Given the description of an element on the screen output the (x, y) to click on. 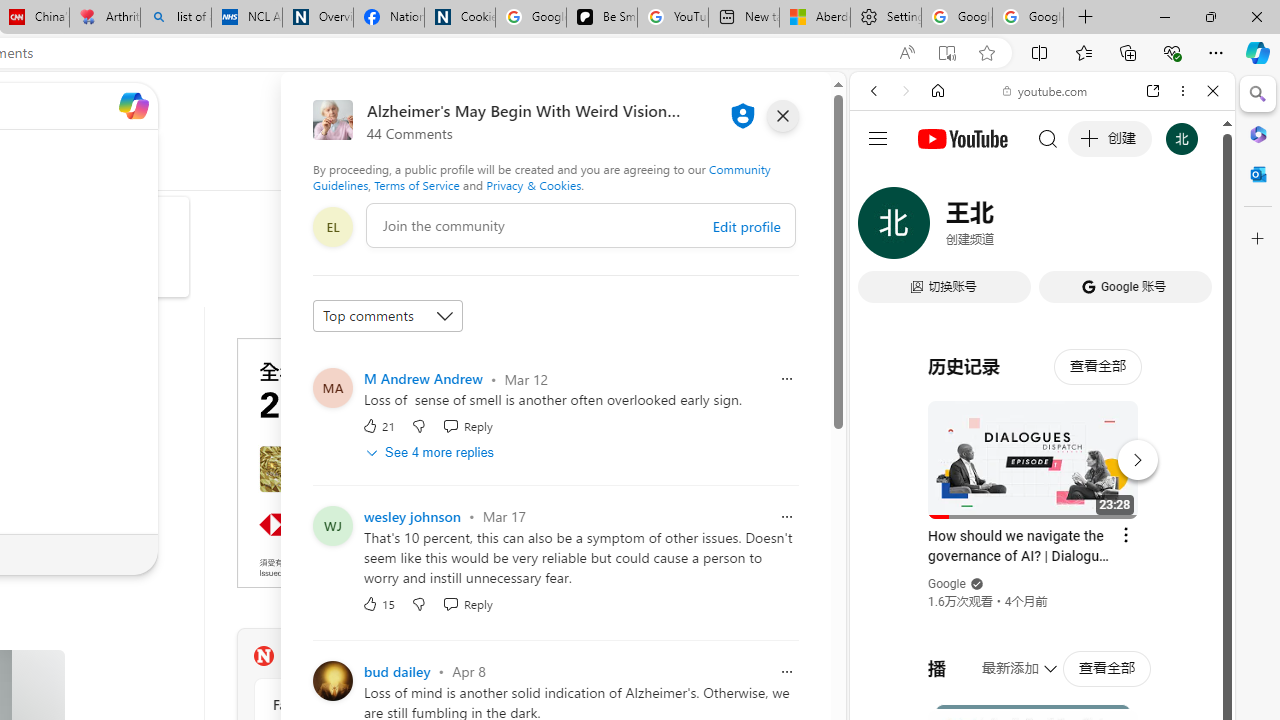
Google (1042, 494)
YouTube (1034, 296)
Close Customize pane (1258, 239)
NCL Adult Asthma Inhaler Choice Guideline (246, 17)
WEB   (882, 228)
21 Like (378, 425)
